Given the description of an element on the screen output the (x, y) to click on. 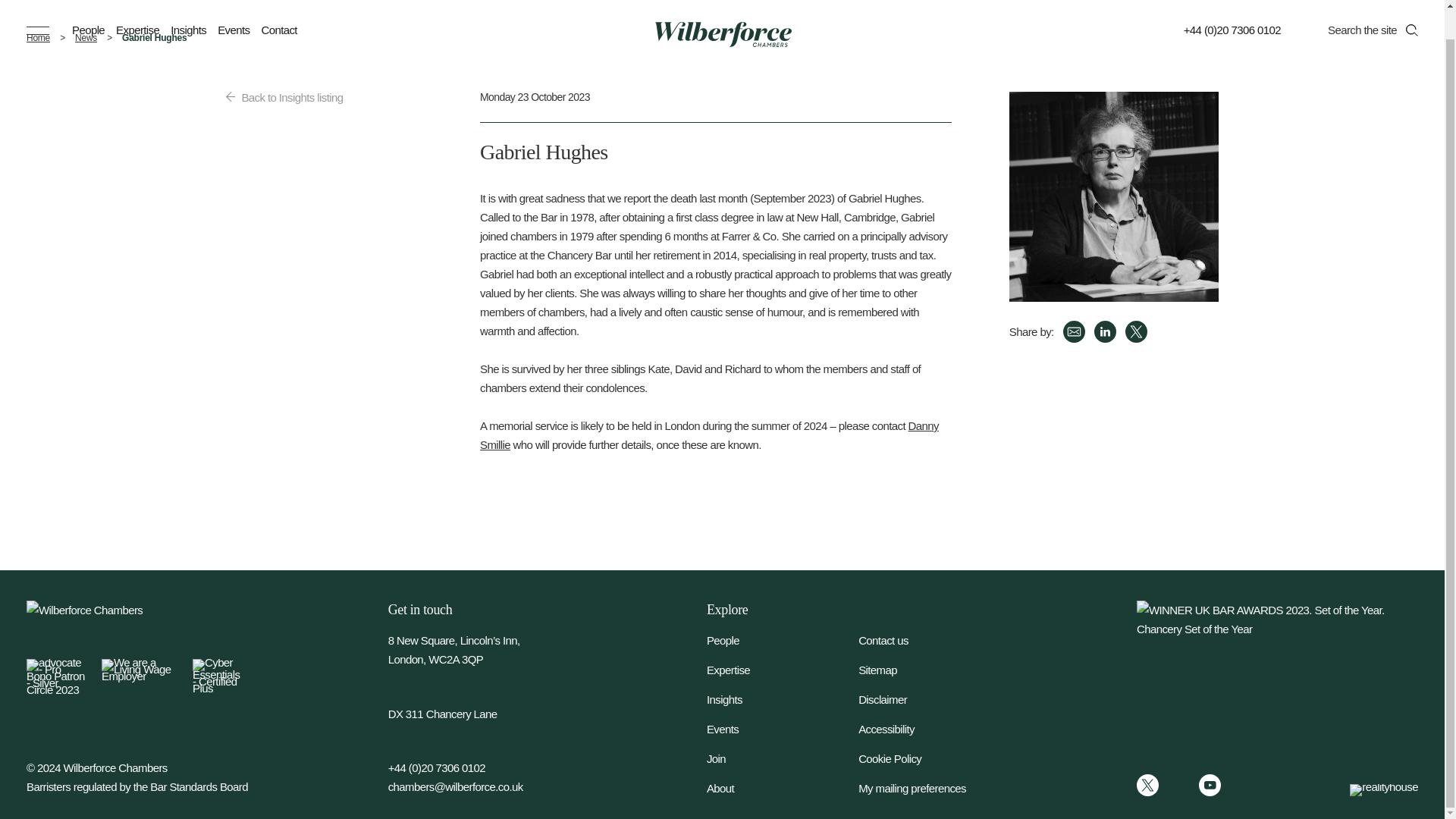
Contact (278, 6)
News (85, 37)
Join (782, 758)
People (87, 6)
Disclaimer (934, 699)
Danny Smillie (709, 435)
Home (42, 37)
X (1136, 332)
LinkedIn (1178, 784)
My mailing preferences (934, 788)
